Given the description of an element on the screen output the (x, y) to click on. 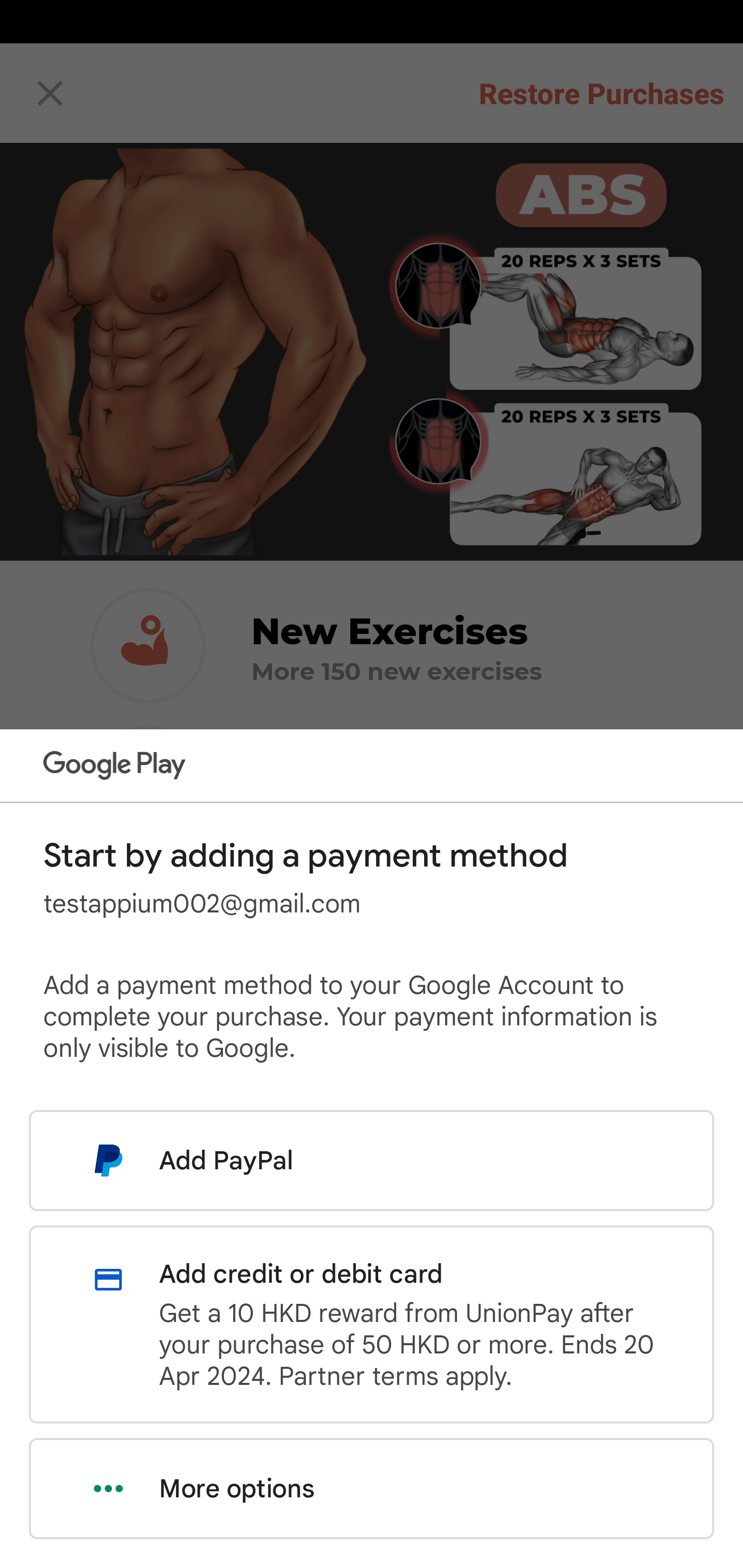
Add PayPal (371, 1160)
More options (371, 1488)
